Given the description of an element on the screen output the (x, y) to click on. 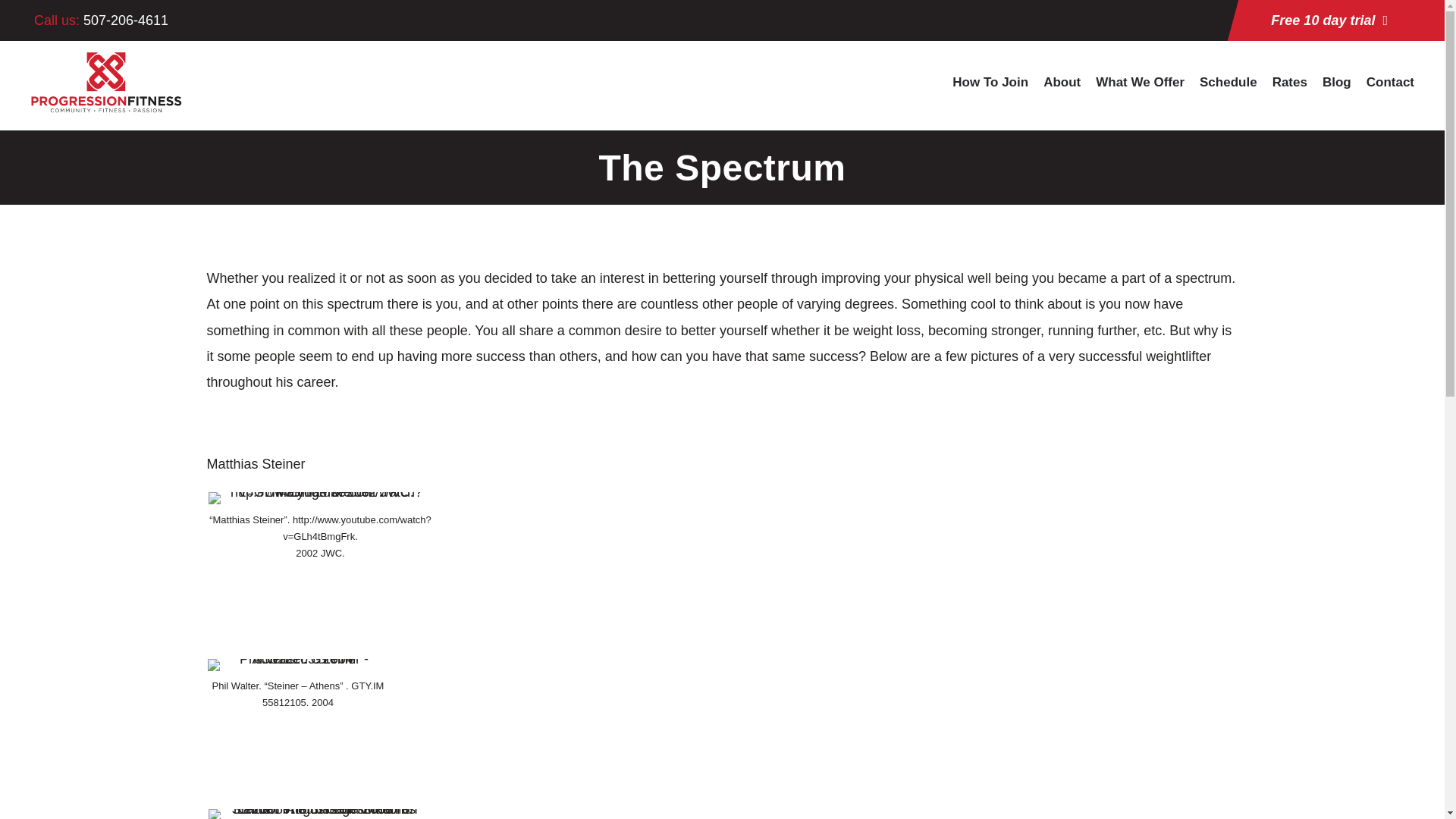
Free 10 day trial (1329, 20)
About (1061, 90)
Rates (1289, 90)
How To Join (989, 90)
What We Offer (1140, 90)
Contact (1390, 90)
Schedule (1228, 90)
507-206-4611 (125, 20)
